Given the description of an element on the screen output the (x, y) to click on. 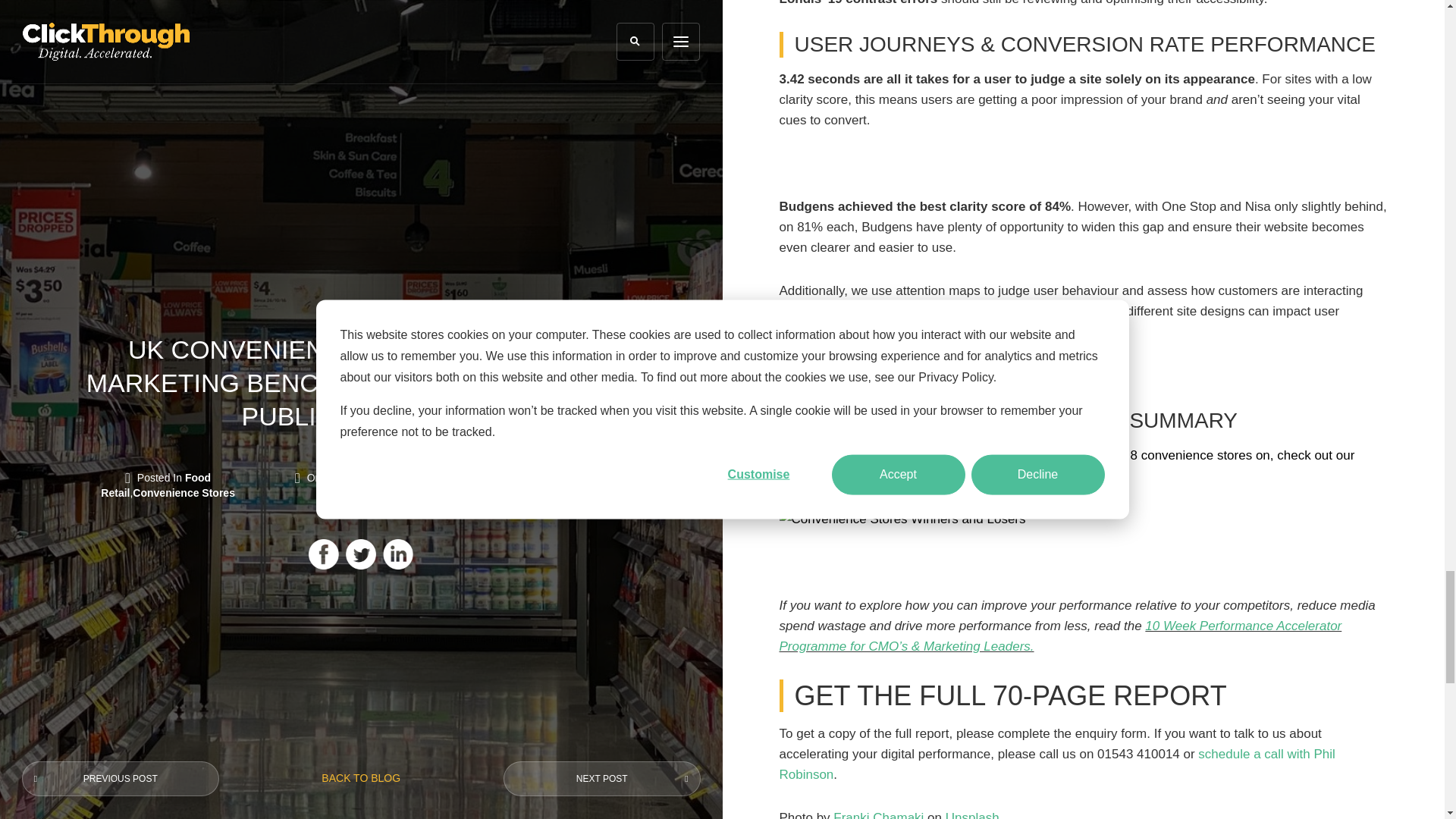
schedule a call with Phil Robinson (1056, 764)
Unsplash (971, 814)
Franki Chamaki (877, 814)
